Given the description of an element on the screen output the (x, y) to click on. 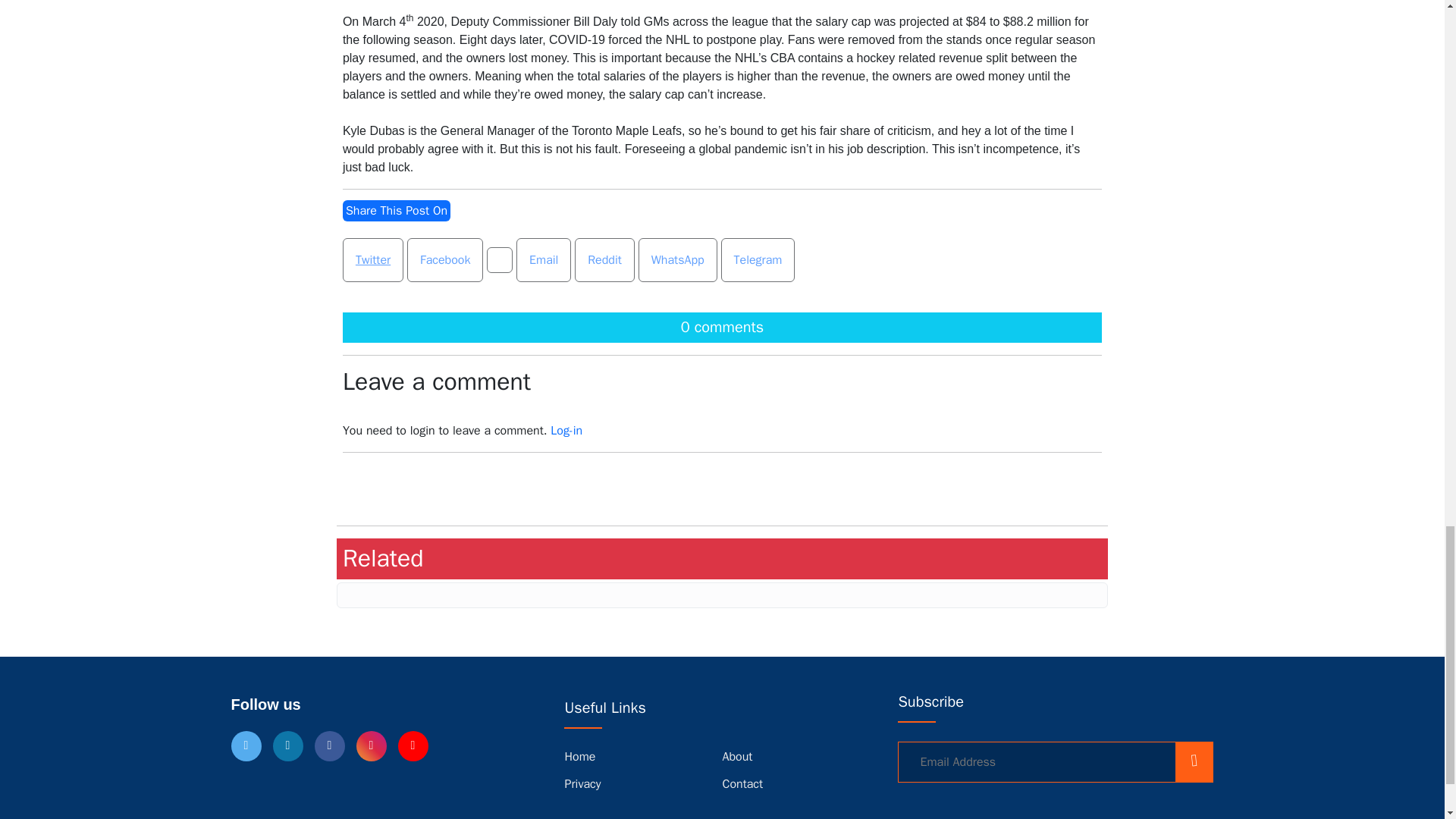
Email (543, 259)
Twitter (372, 259)
Reddit (604, 259)
Email (543, 259)
Log-in (566, 430)
Facebook (445, 259)
Facebook (445, 259)
Home (579, 756)
Telegram (758, 259)
WhatsApp (678, 259)
Twitter (372, 259)
Reddit (604, 259)
WhatsApp (677, 259)
Telegram (757, 259)
